Given the description of an element on the screen output the (x, y) to click on. 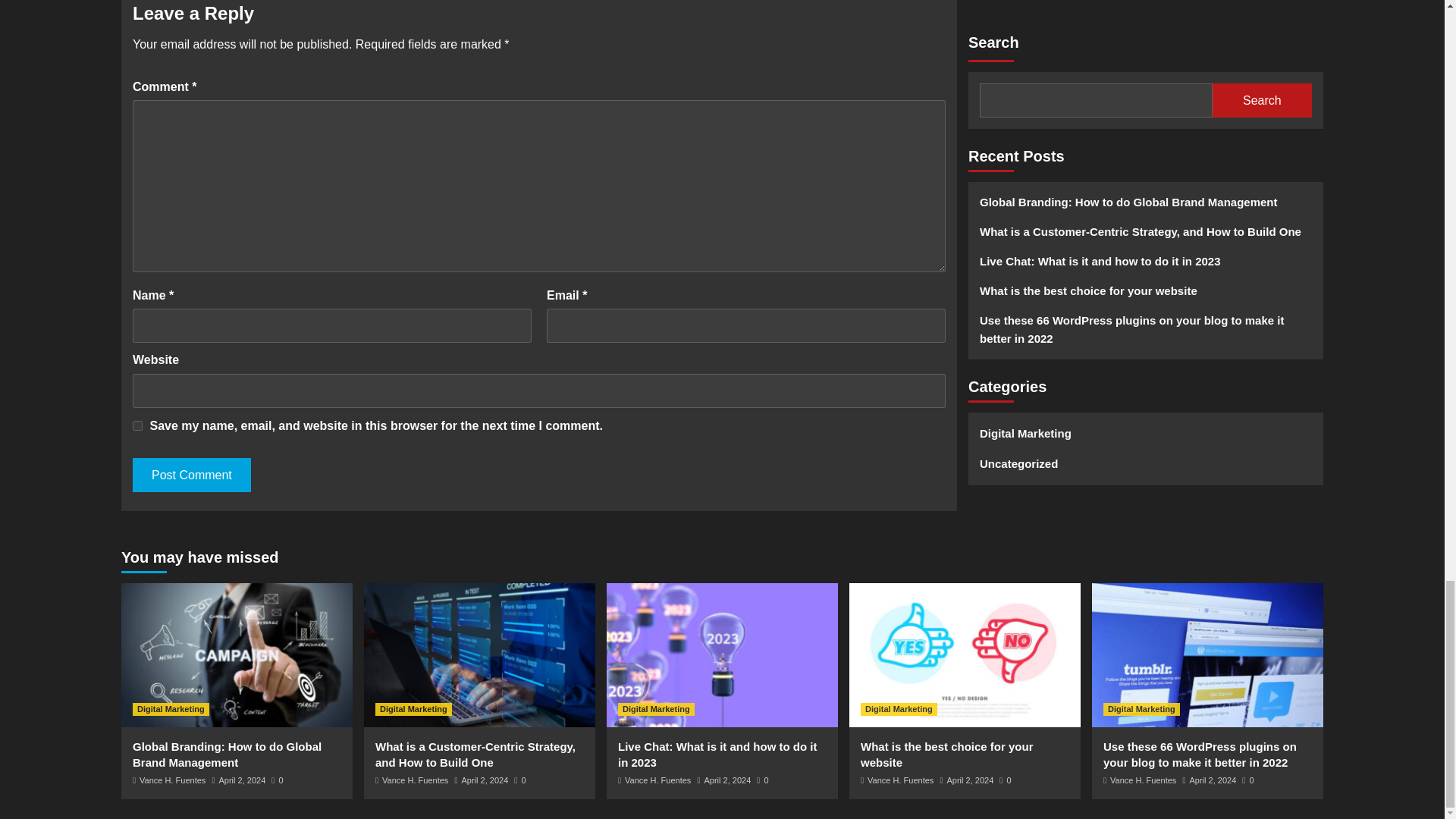
yes (137, 425)
Post Comment (191, 474)
Post Comment (191, 474)
